Given the description of an element on the screen output the (x, y) to click on. 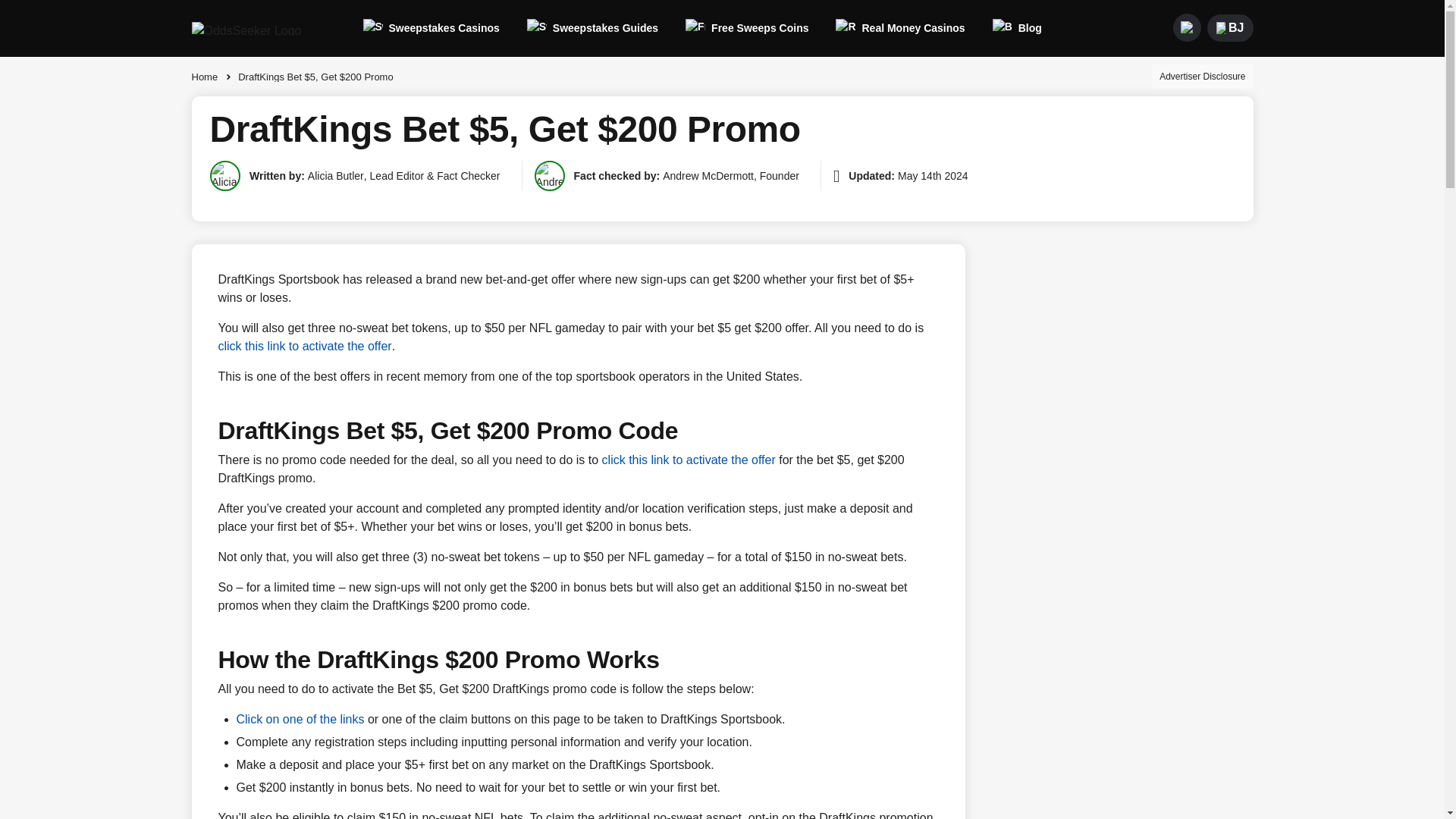
BJ (1229, 26)
Blog (1017, 27)
Advertiser Disclosure (1201, 76)
Free Sweeps Coins (746, 27)
click this link to activate the offer (304, 346)
Sweepstakes Casinos (430, 27)
click this link to activate the offer (689, 460)
Home (207, 75)
Click on one of the links (300, 719)
